Given the description of an element on the screen output the (x, y) to click on. 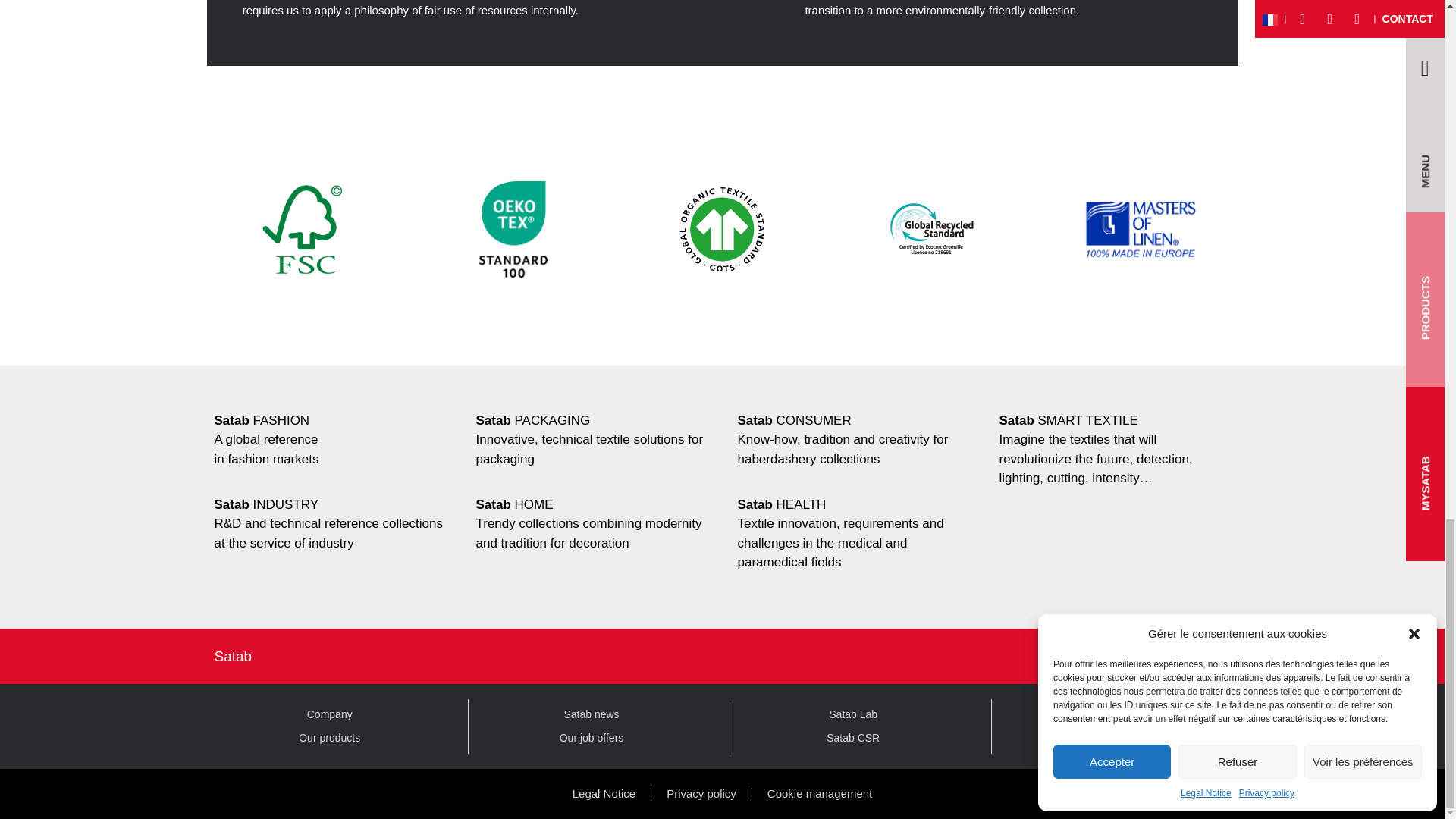
Company (329, 714)
Login (1127, 656)
Satab Lab (853, 714)
Legal Notice (603, 793)
Privacy policy (700, 793)
Our products (329, 738)
Satab CSR (853, 738)
MySatab (1114, 714)
Our job offers (591, 738)
Satab (232, 656)
Contact (1114, 738)
Satab news (591, 714)
